Given the description of an element on the screen output the (x, y) to click on. 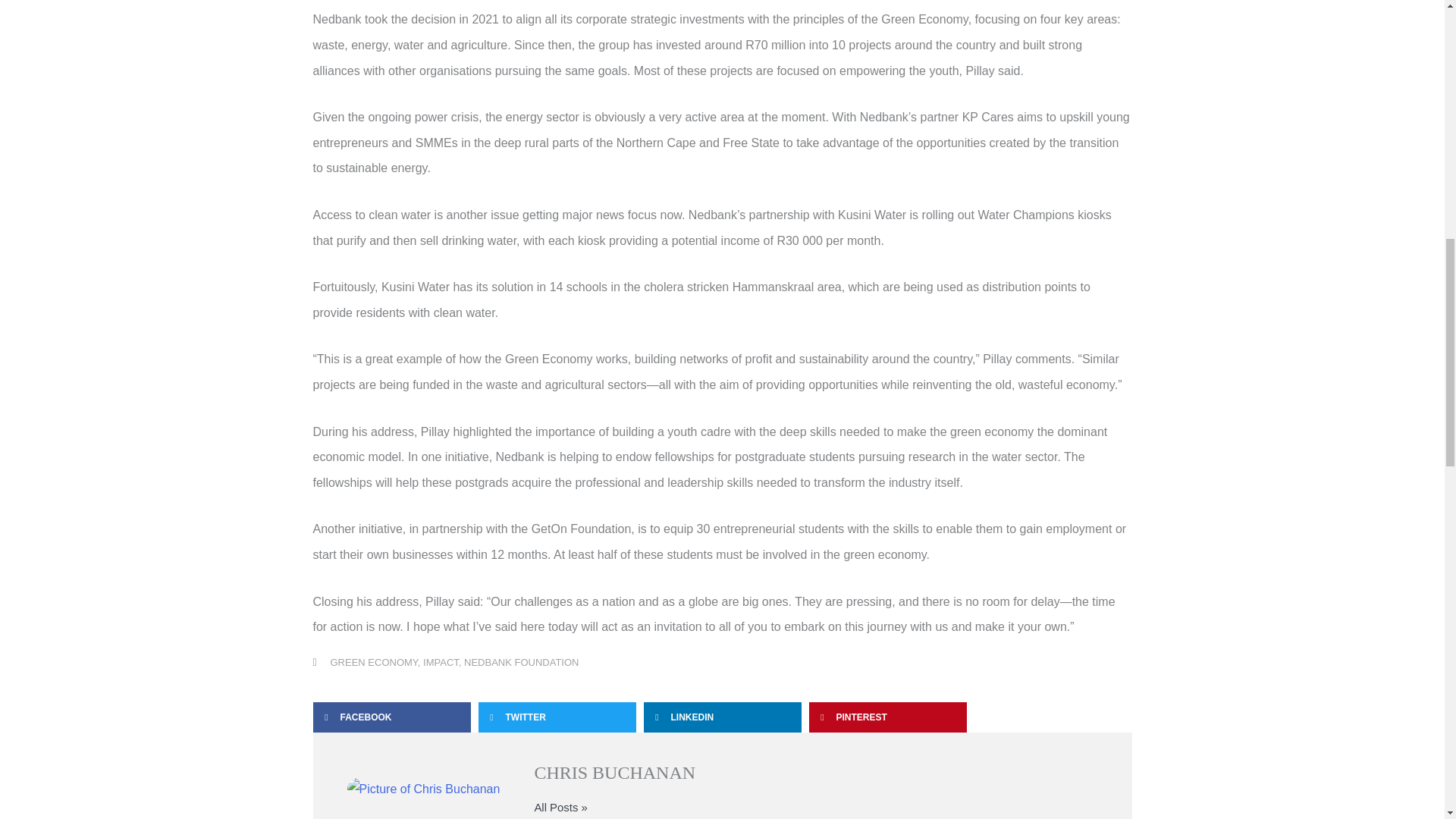
IMPACT (440, 662)
GREEN ECONOMY (373, 662)
CHRIS BUCHANAN (815, 772)
NEDBANK FOUNDATION (521, 662)
